Given the description of an element on the screen output the (x, y) to click on. 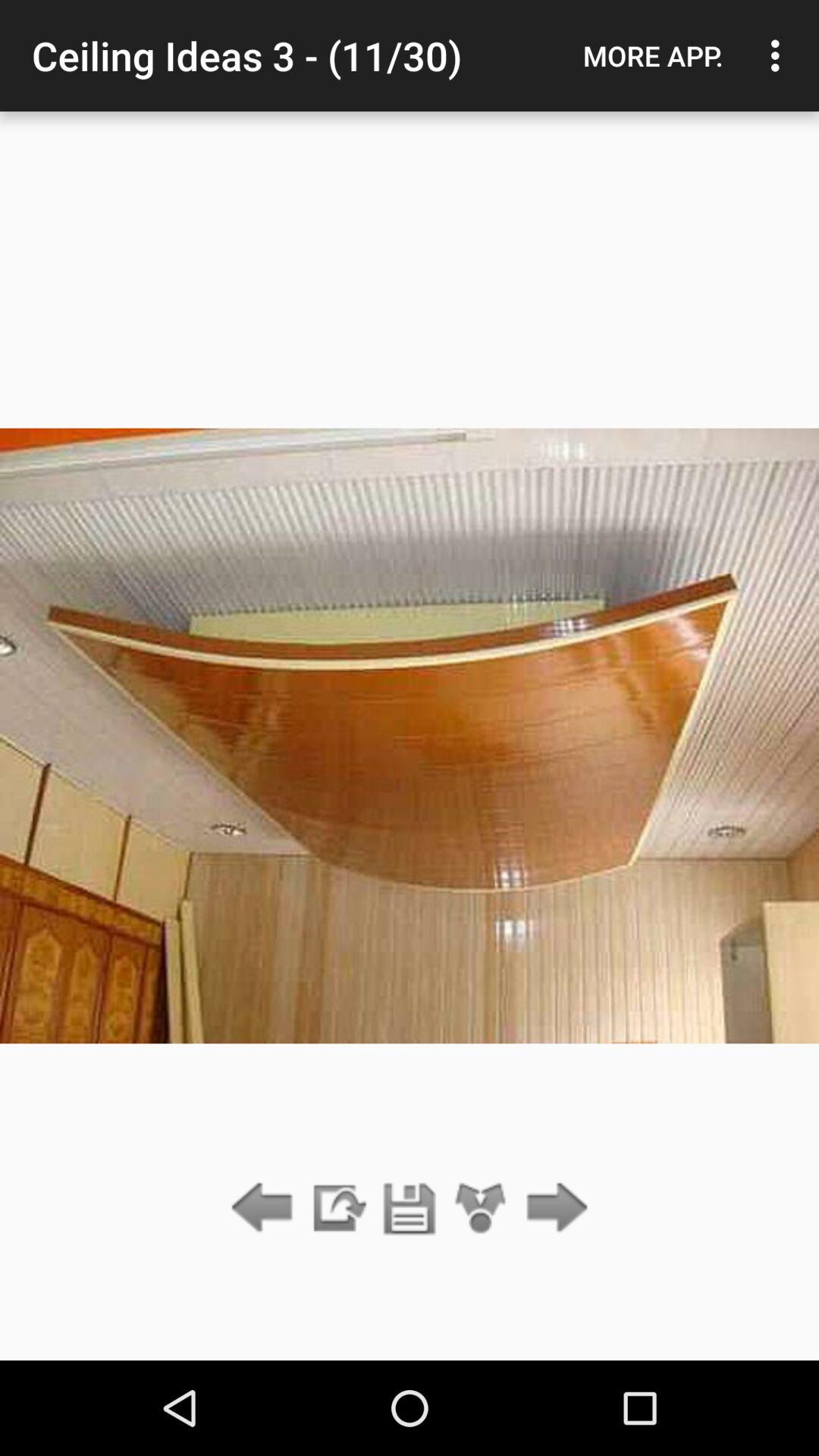
share (480, 1208)
